Given the description of an element on the screen output the (x, y) to click on. 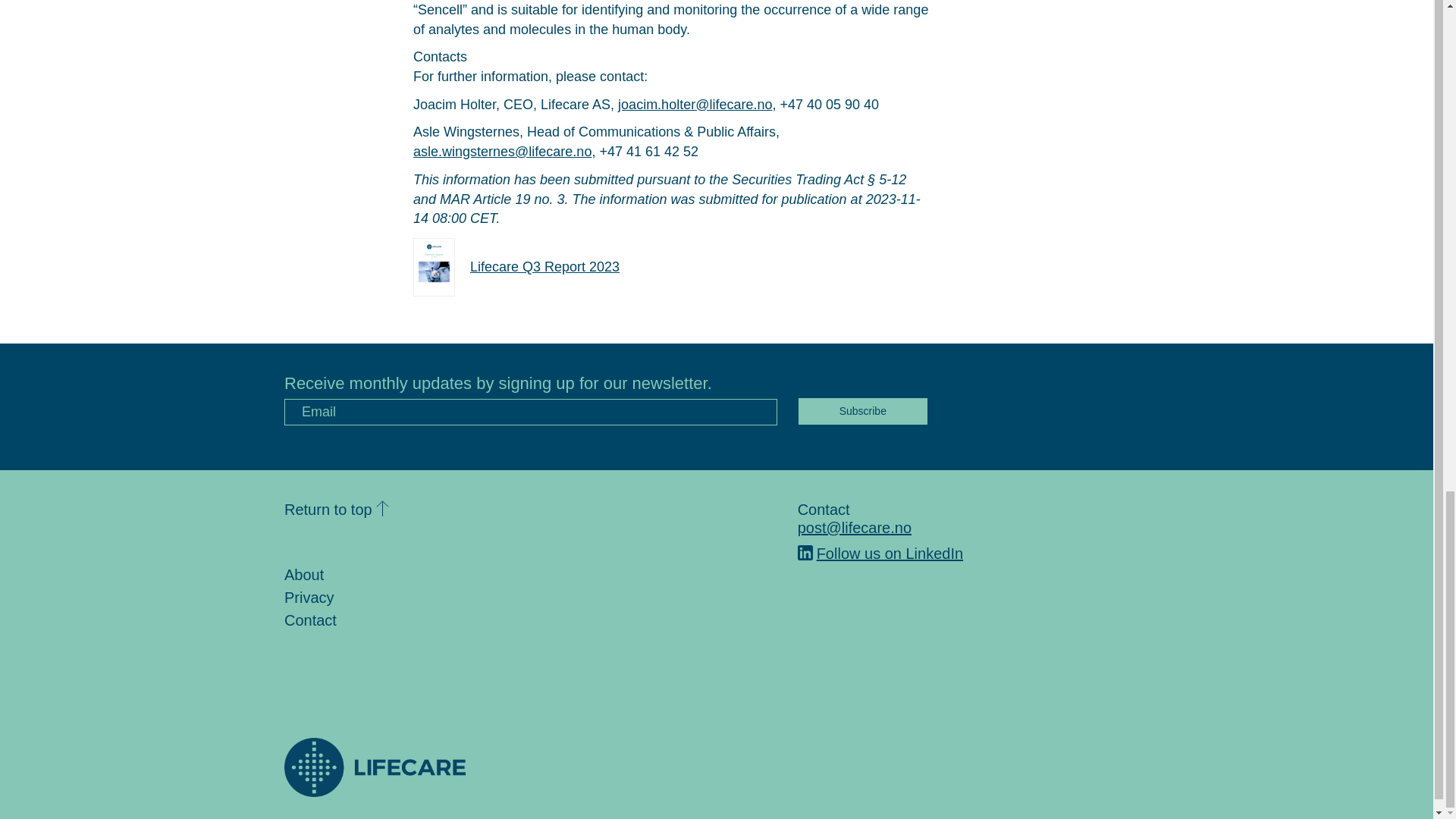
Subscribe (862, 411)
About (303, 574)
Lifecare Q3 Report 2023 (516, 267)
Follow us on LinkedIn (879, 553)
Contact (309, 619)
Subscribe (862, 411)
Privacy (308, 597)
